Given the description of an element on the screen output the (x, y) to click on. 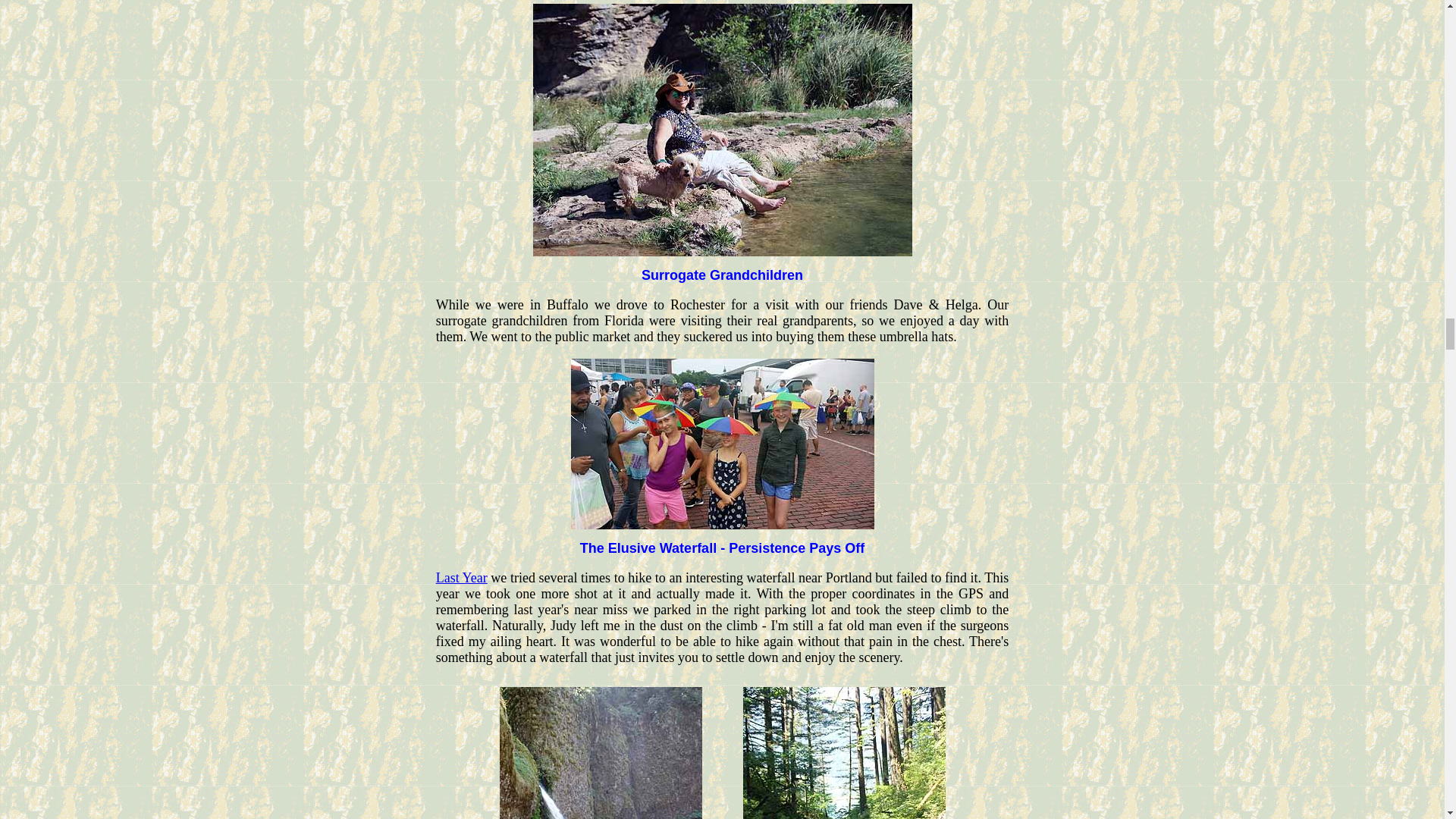
Last Year (461, 577)
